Given the description of an element on the screen output the (x, y) to click on. 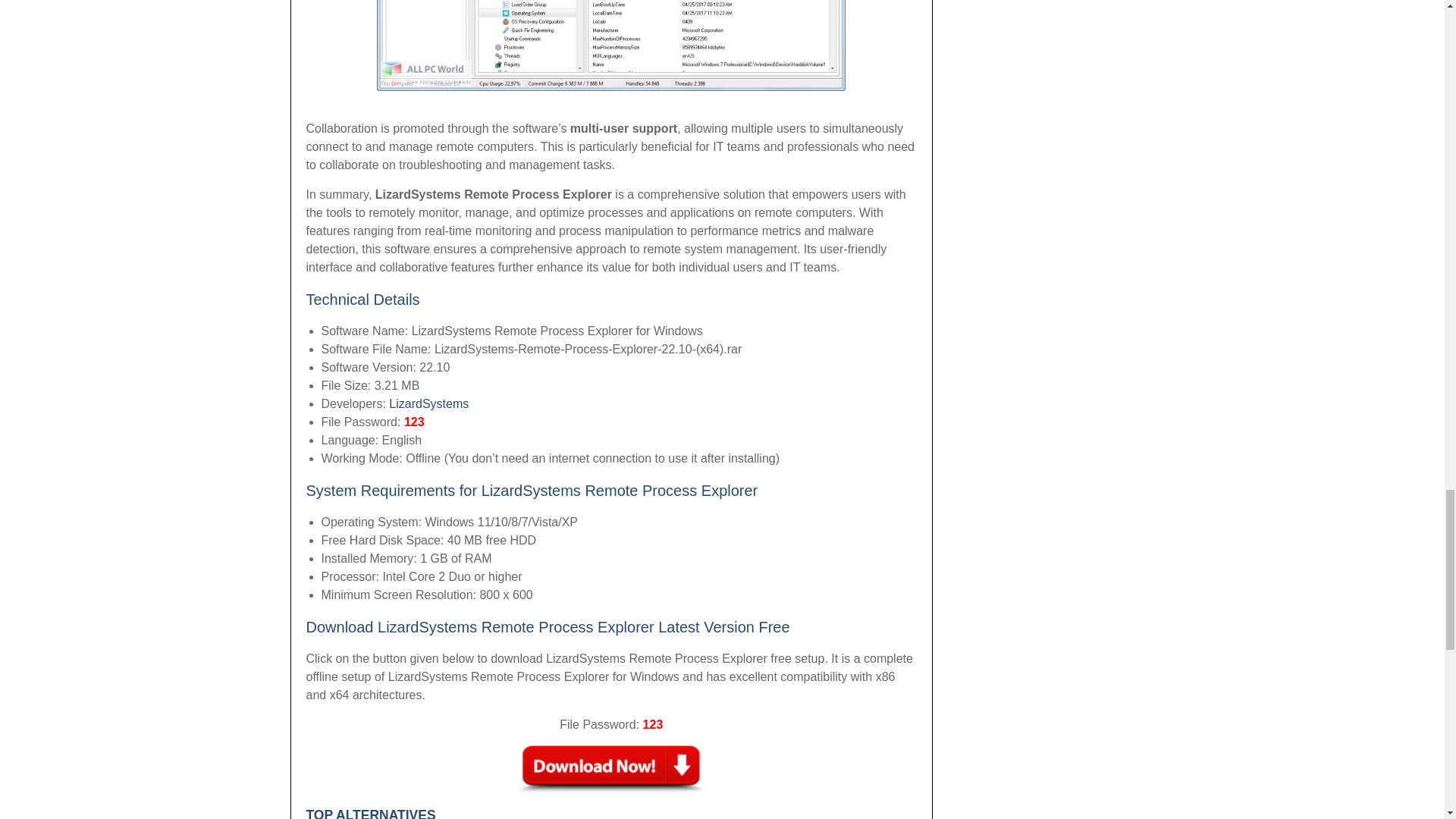
LizardSystems (428, 403)
